Given the description of an element on the screen output the (x, y) to click on. 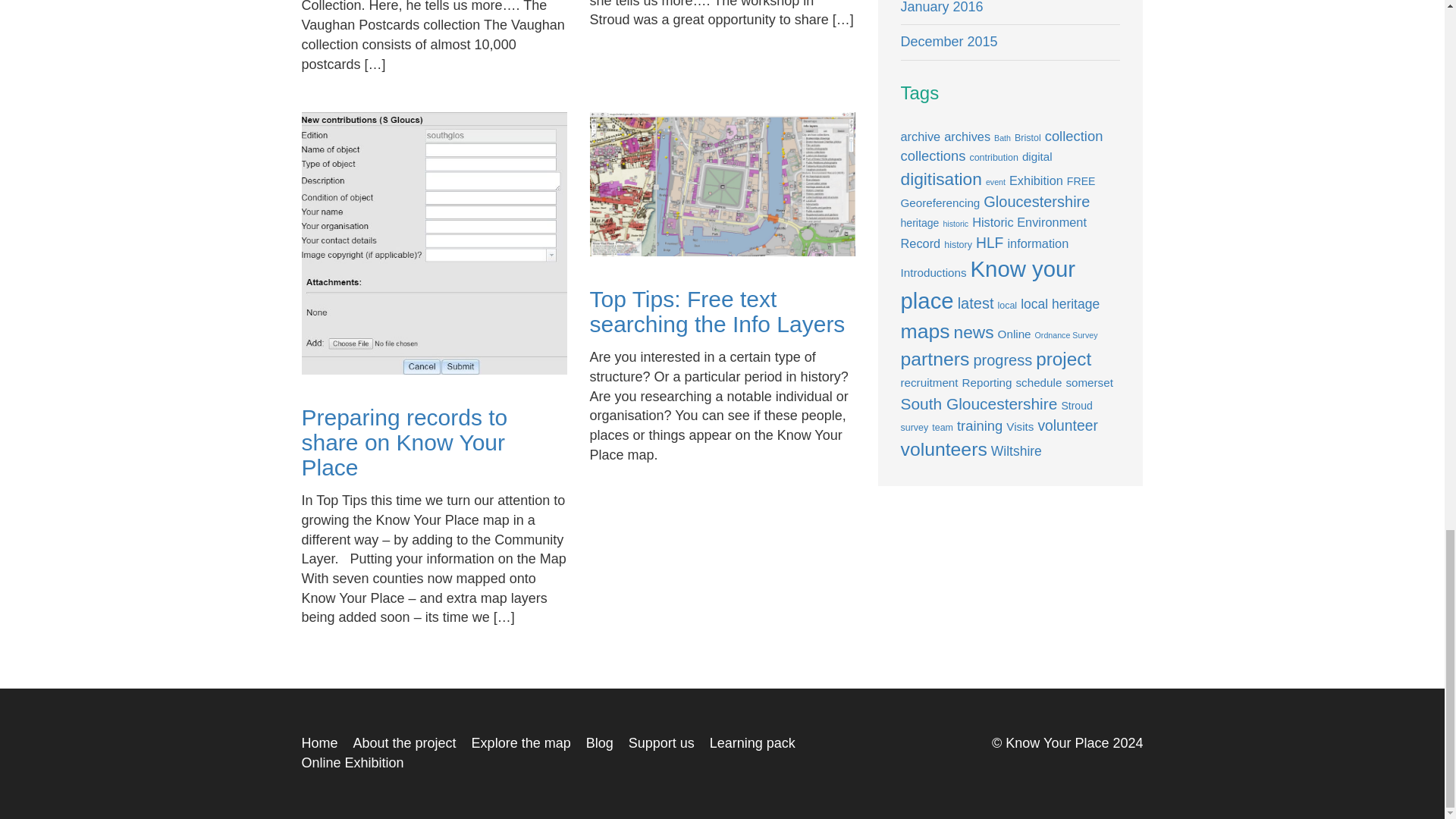
Preparing records to share on Know Your Place (404, 441)
Top Tips: Free text searching the Info Layers (717, 311)
